Given the description of an element on the screen output the (x, y) to click on. 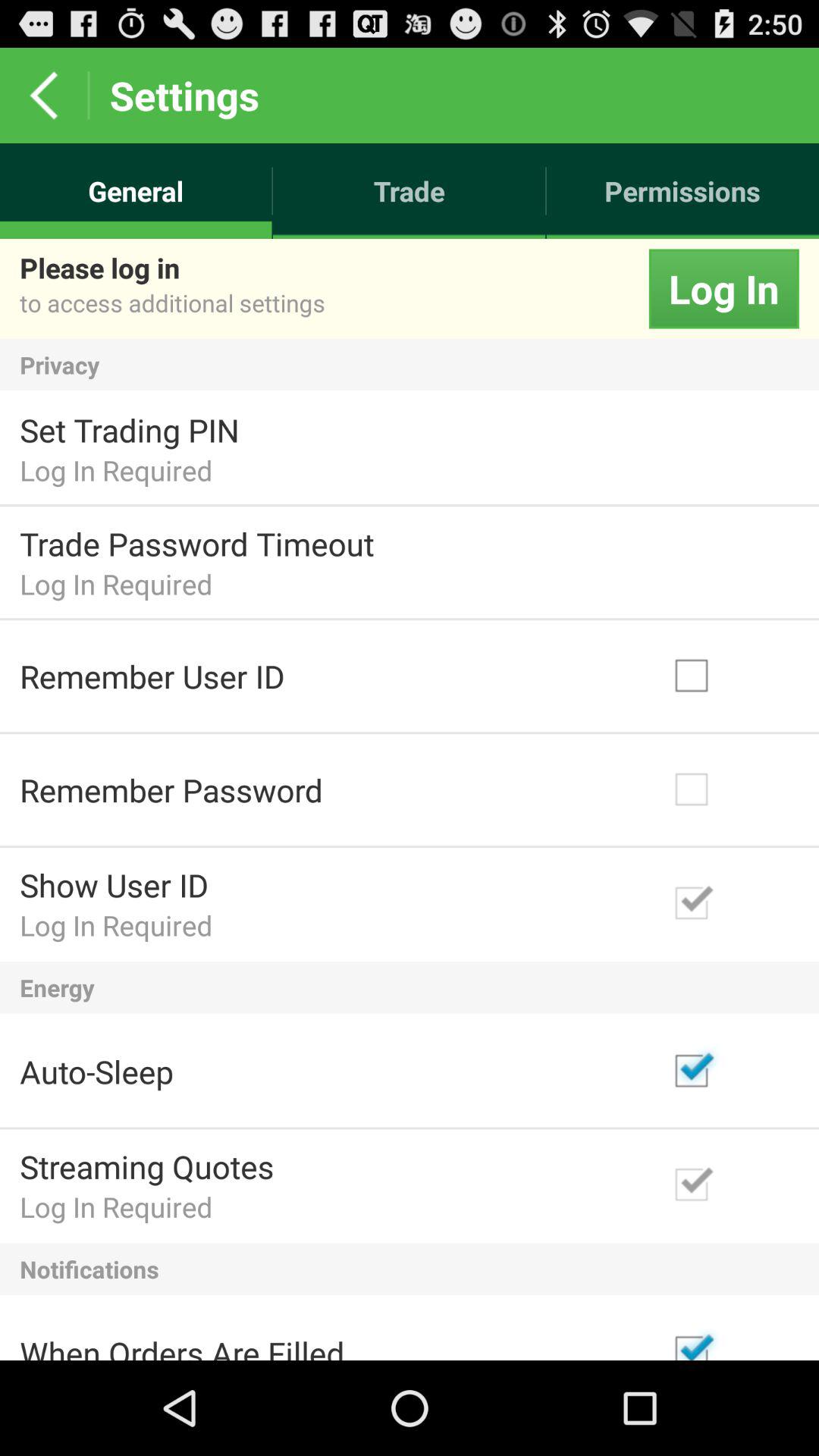
tap the item to the left of the trade icon (135, 190)
